Given the description of an element on the screen output the (x, y) to click on. 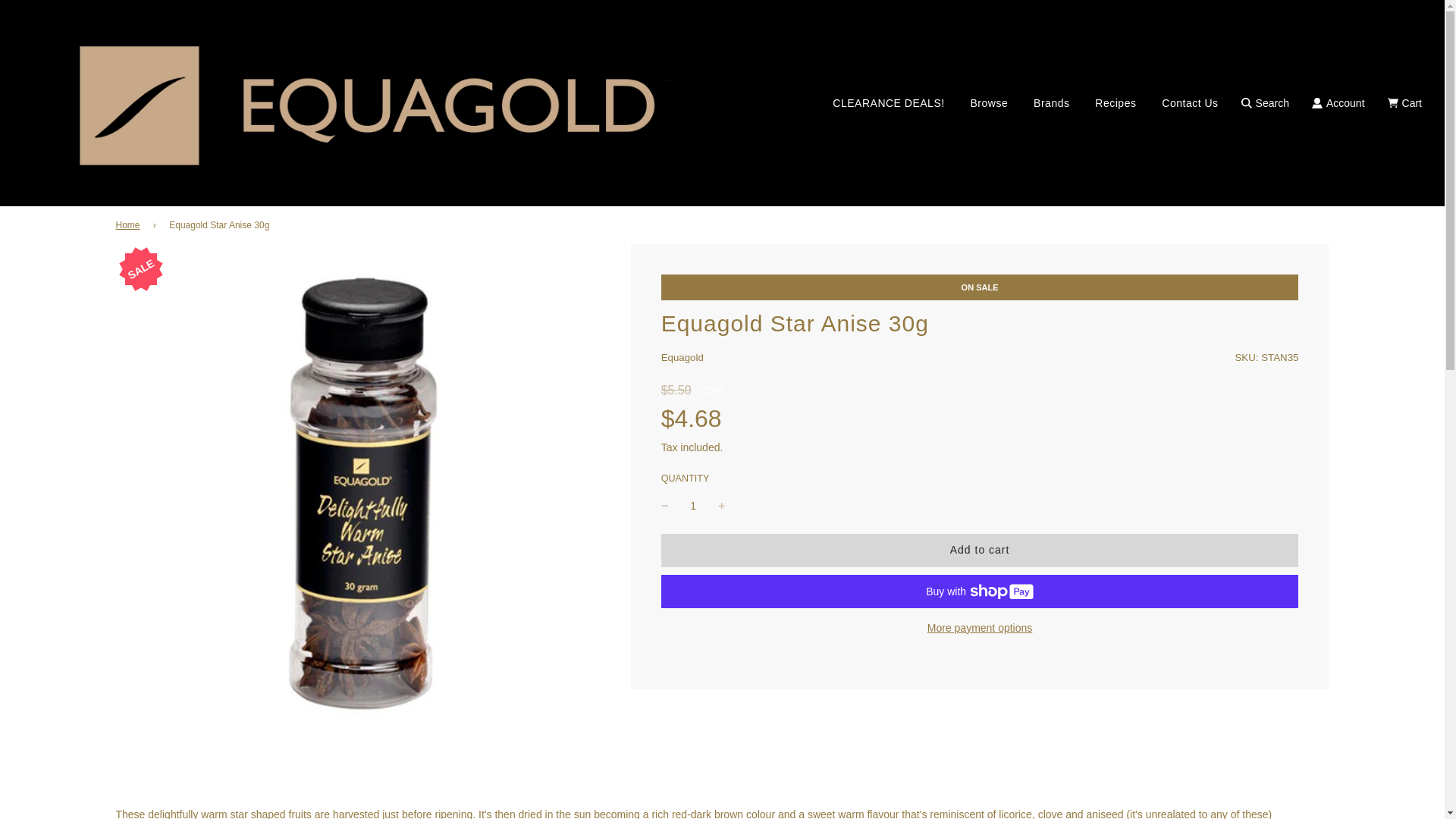
Back to the frontpage (129, 225)
Log in (1337, 102)
Equagold (682, 357)
1 (693, 505)
